Given the description of an element on the screen output the (x, y) to click on. 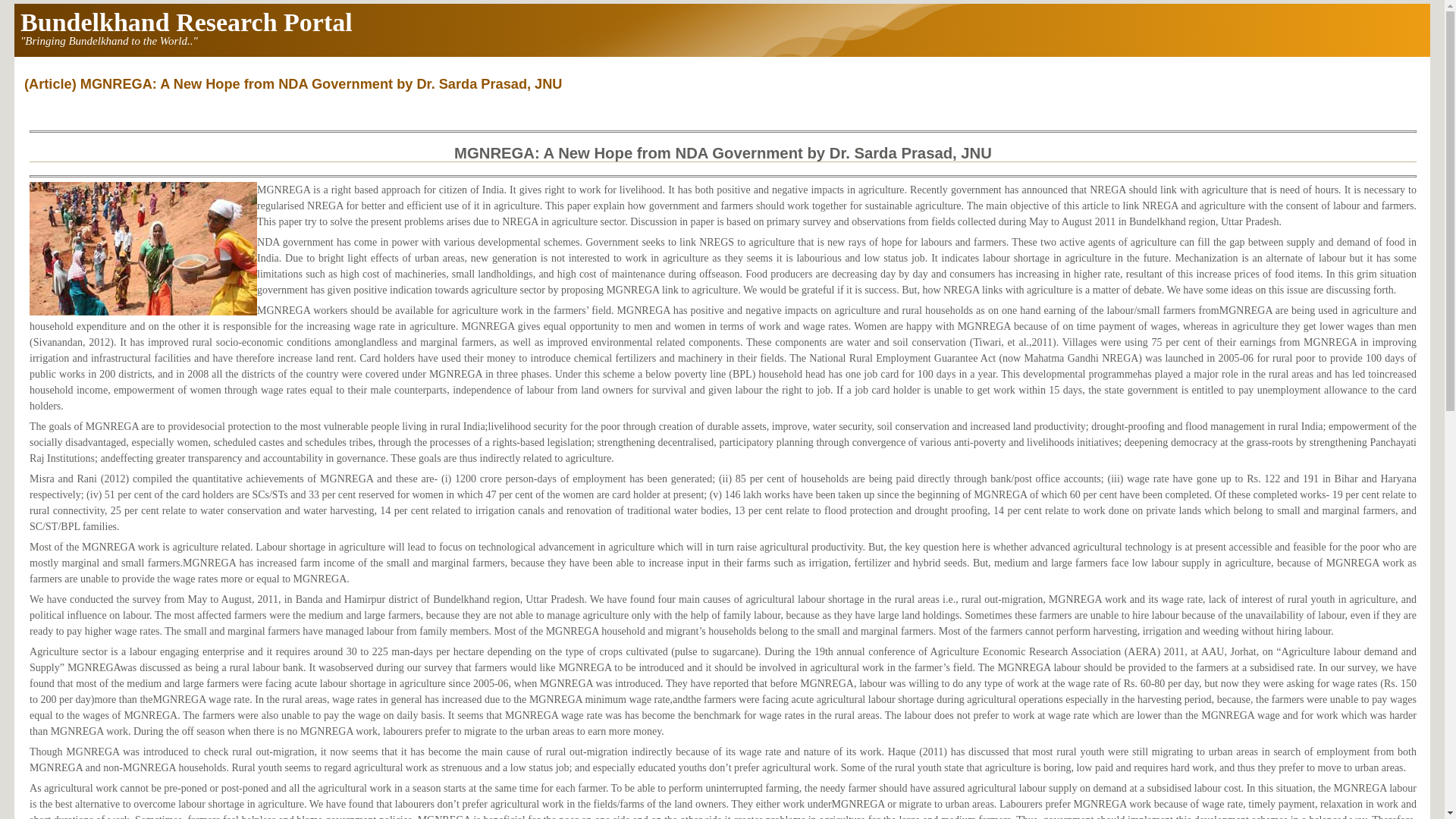
Bundelkhand Research Portal (186, 22)
Home (186, 22)
